Given the description of an element on the screen output the (x, y) to click on. 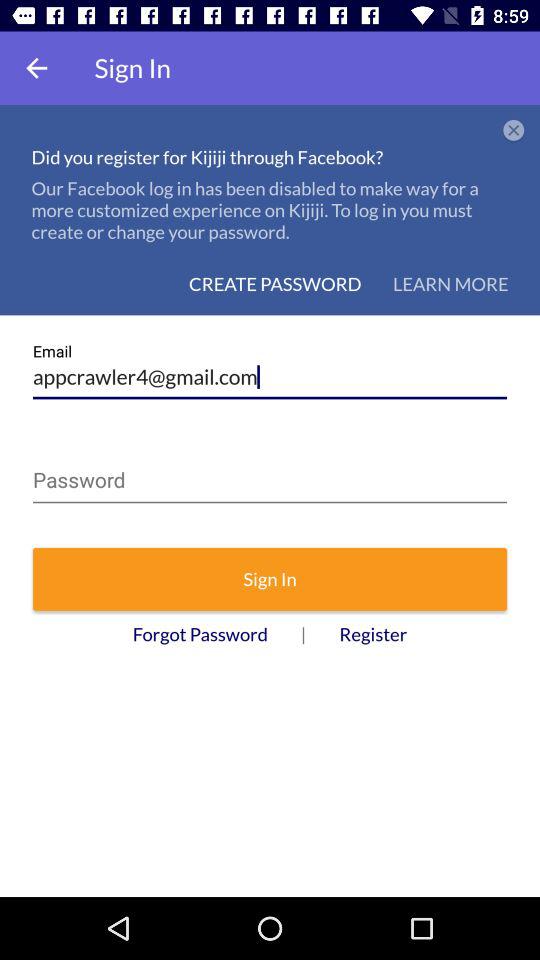
tap the icon below our facebook log icon (450, 283)
